Given the description of an element on the screen output the (x, y) to click on. 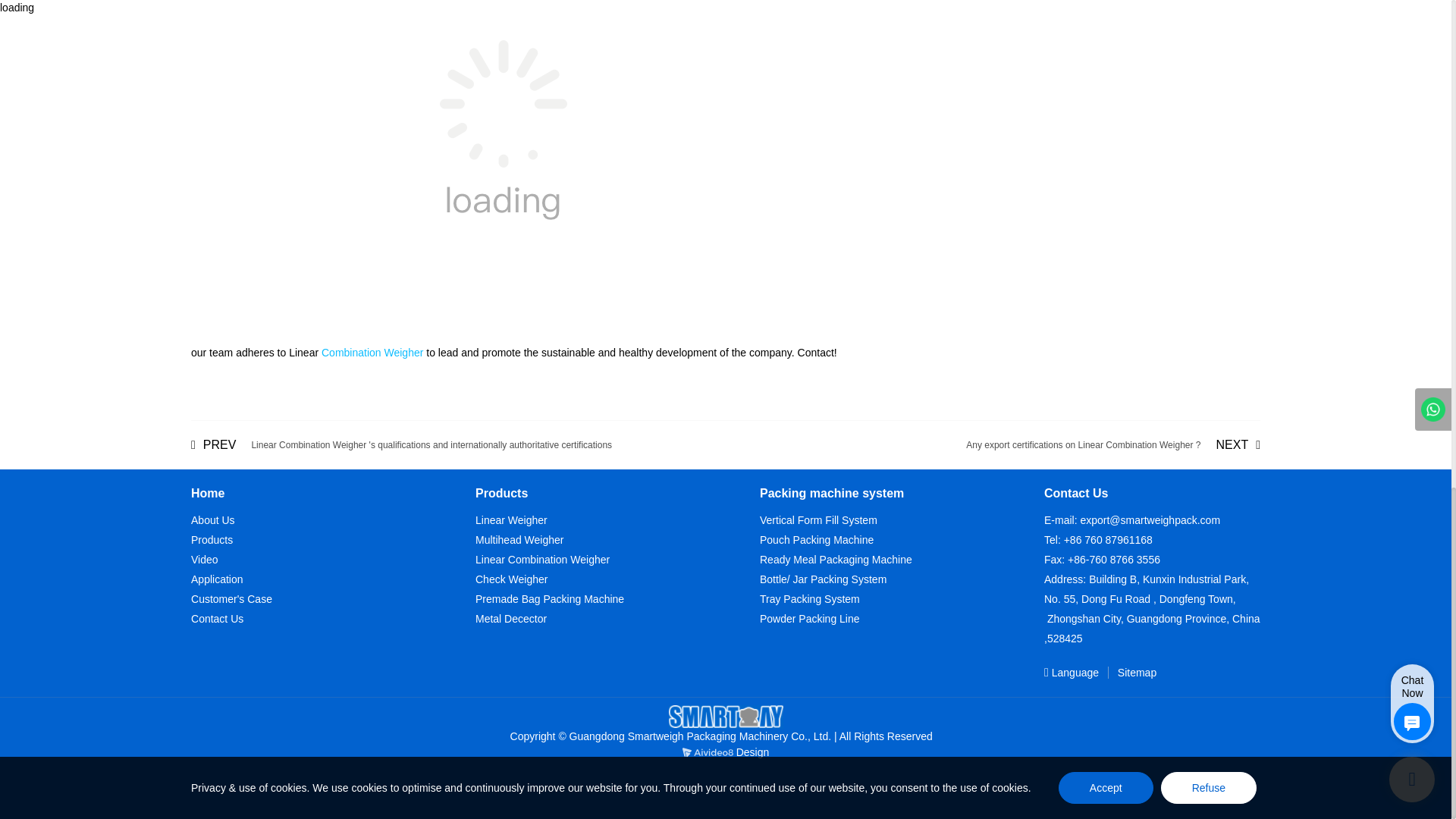
Any export certifications on Linear Combination Weigher ? (1113, 444)
Combination Weigher (372, 352)
